Given the description of an element on the screen output the (x, y) to click on. 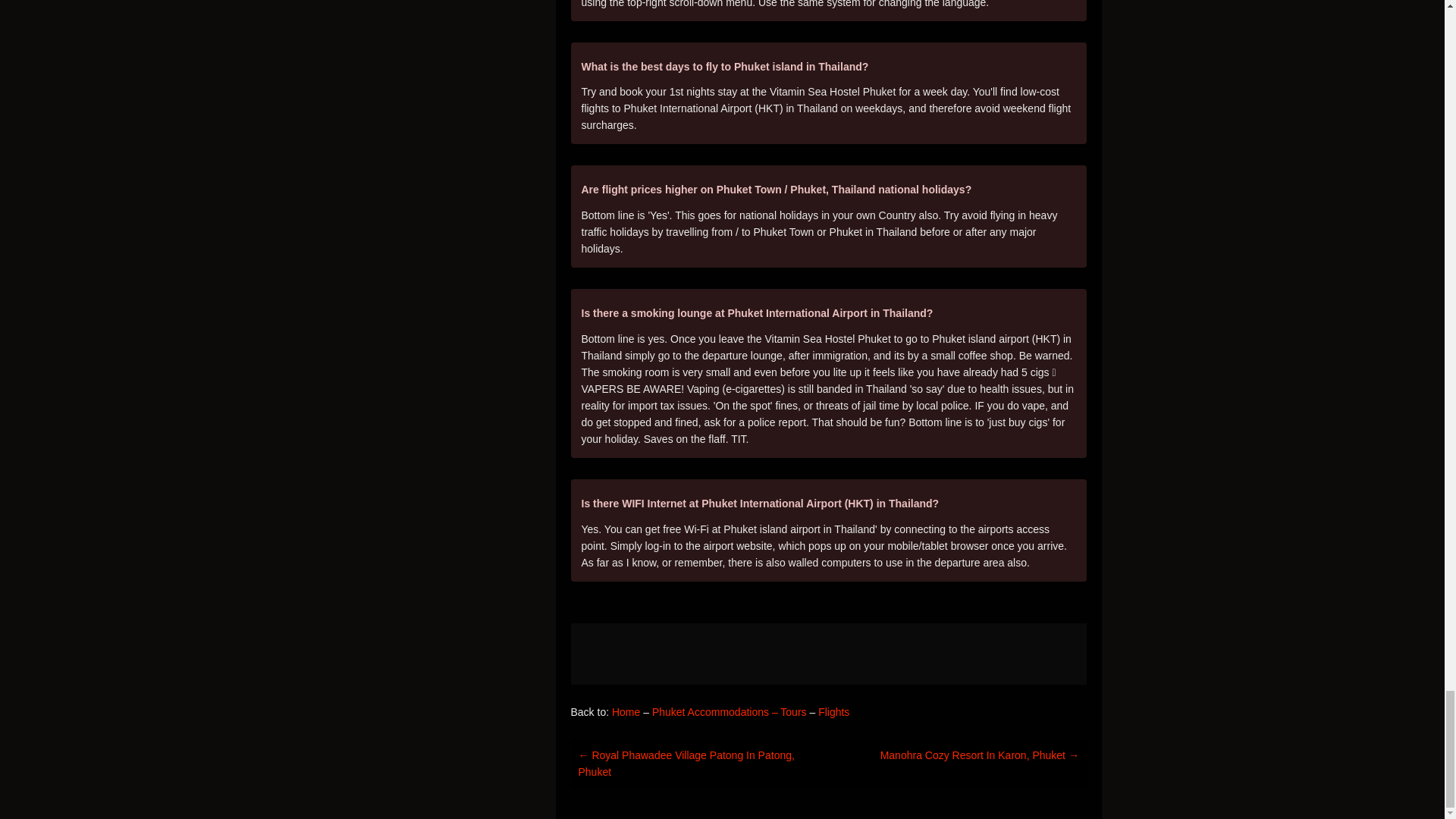
Vitamin Sea Hostel Phuket - Hostel reservations. (828, 653)
